Given the description of an element on the screen output the (x, y) to click on. 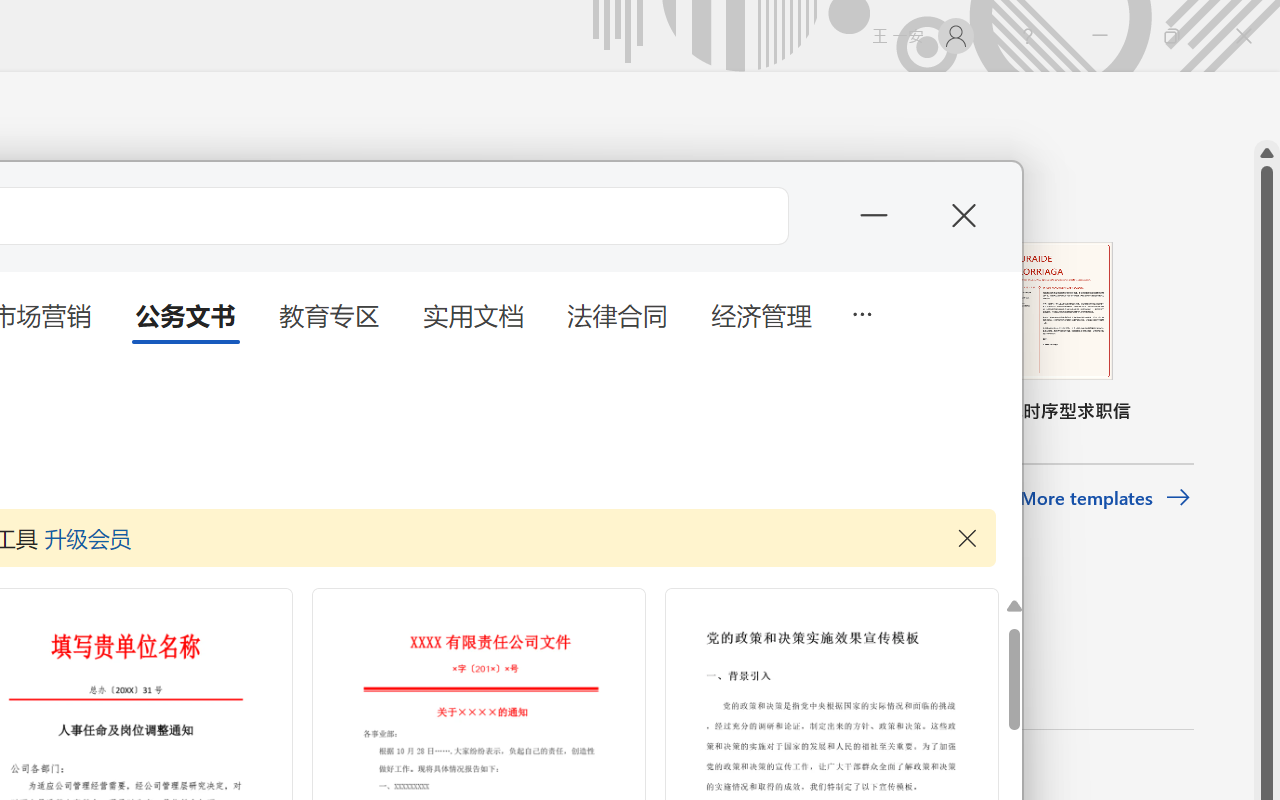
2304.09121v3.pdf (962, 52)
2301.12597v3.pdf (1192, 348)
2401.17399v1.pdf (1077, 52)
2404.05719v1.pdf (1192, 496)
5 more tabs (861, 312)
